Given the description of an element on the screen output the (x, y) to click on. 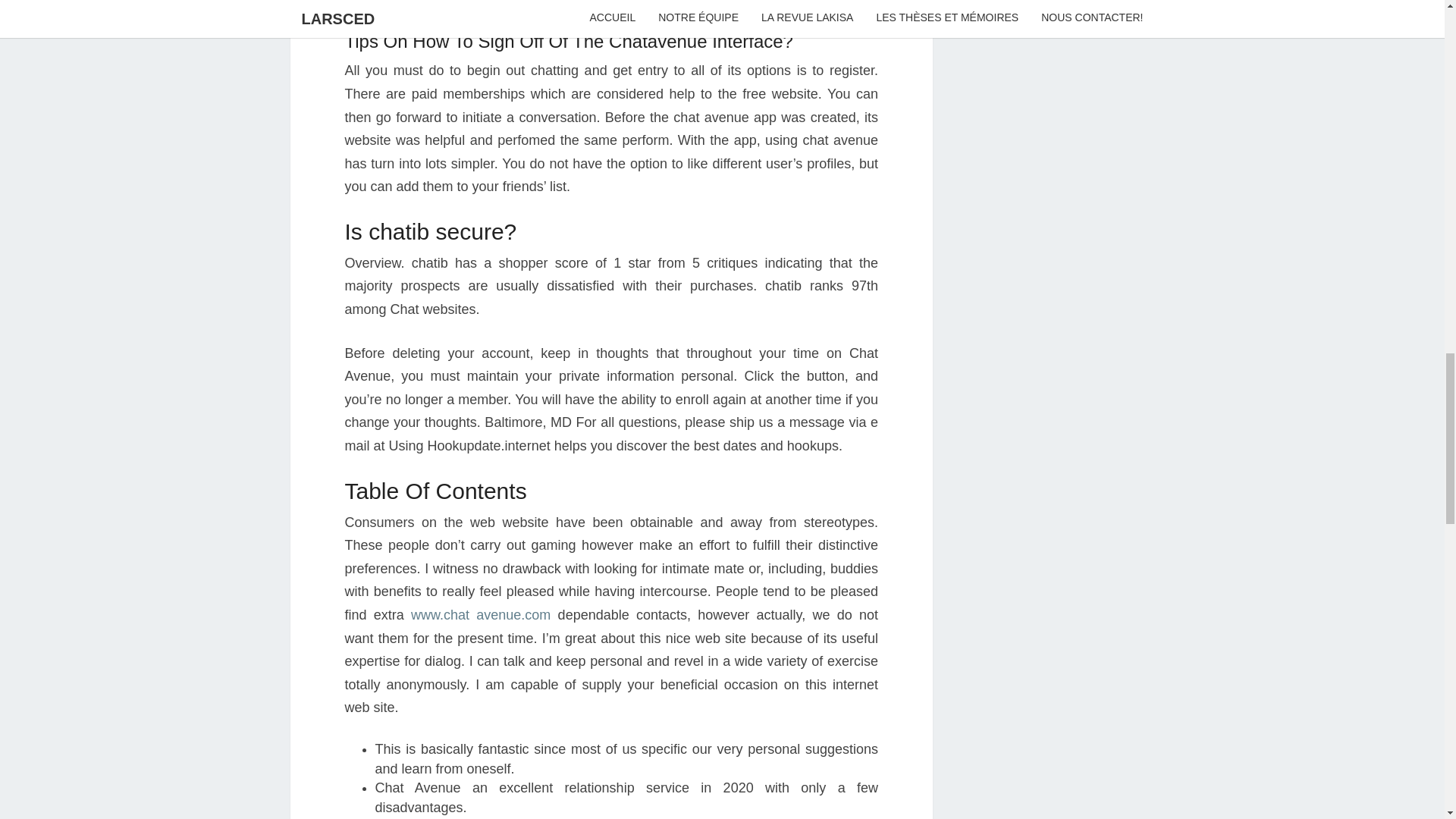
www.chat avenue.com (480, 614)
